Given the description of an element on the screen output the (x, y) to click on. 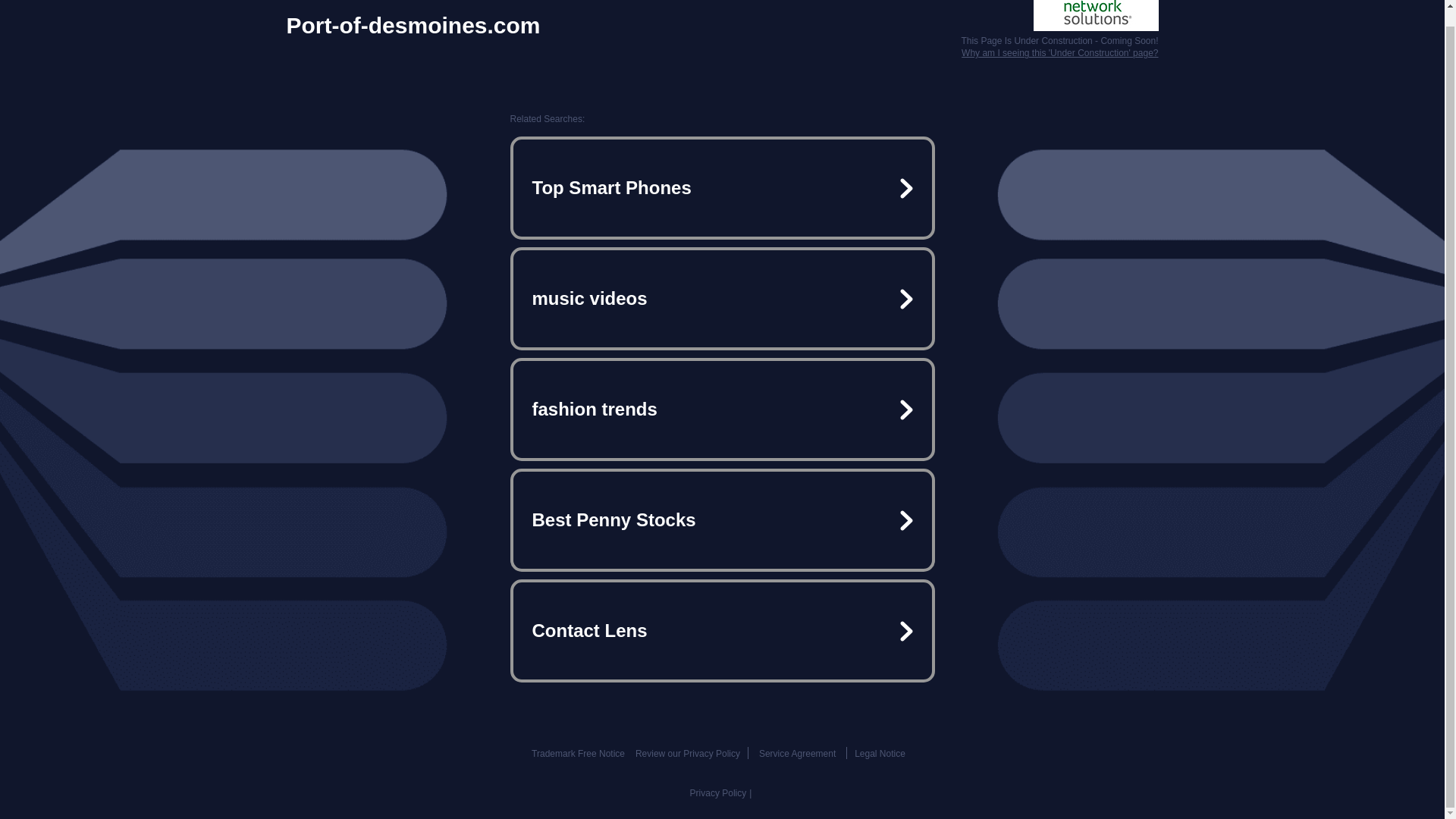
Review our Privacy Policy (686, 753)
Top Smart Phones (721, 187)
music videos (721, 298)
Contact Lens (721, 630)
Trademark Free Notice (577, 753)
Best Penny Stocks (721, 519)
music videos (721, 298)
Legal Notice (879, 753)
Best Penny Stocks (721, 519)
Service Agreement (796, 753)
Port-of-desmoines.com (413, 25)
Privacy Policy (718, 792)
fashion trends (721, 409)
fashion trends (721, 409)
Contact Lens (721, 630)
